Given the description of an element on the screen output the (x, y) to click on. 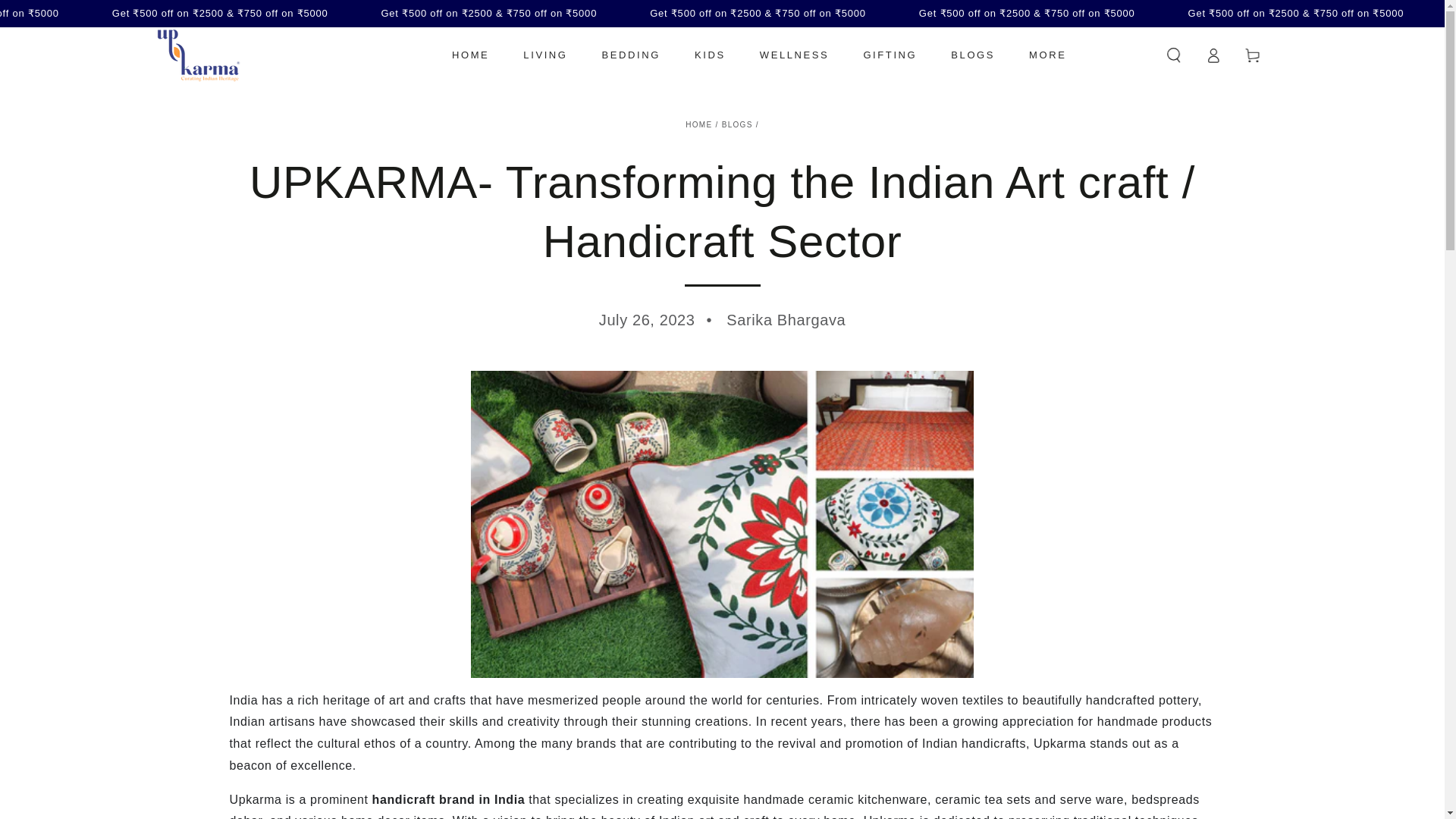
SKIP TO CONTENT (67, 14)
Back to the frontpage (698, 124)
